Given the description of an element on the screen output the (x, y) to click on. 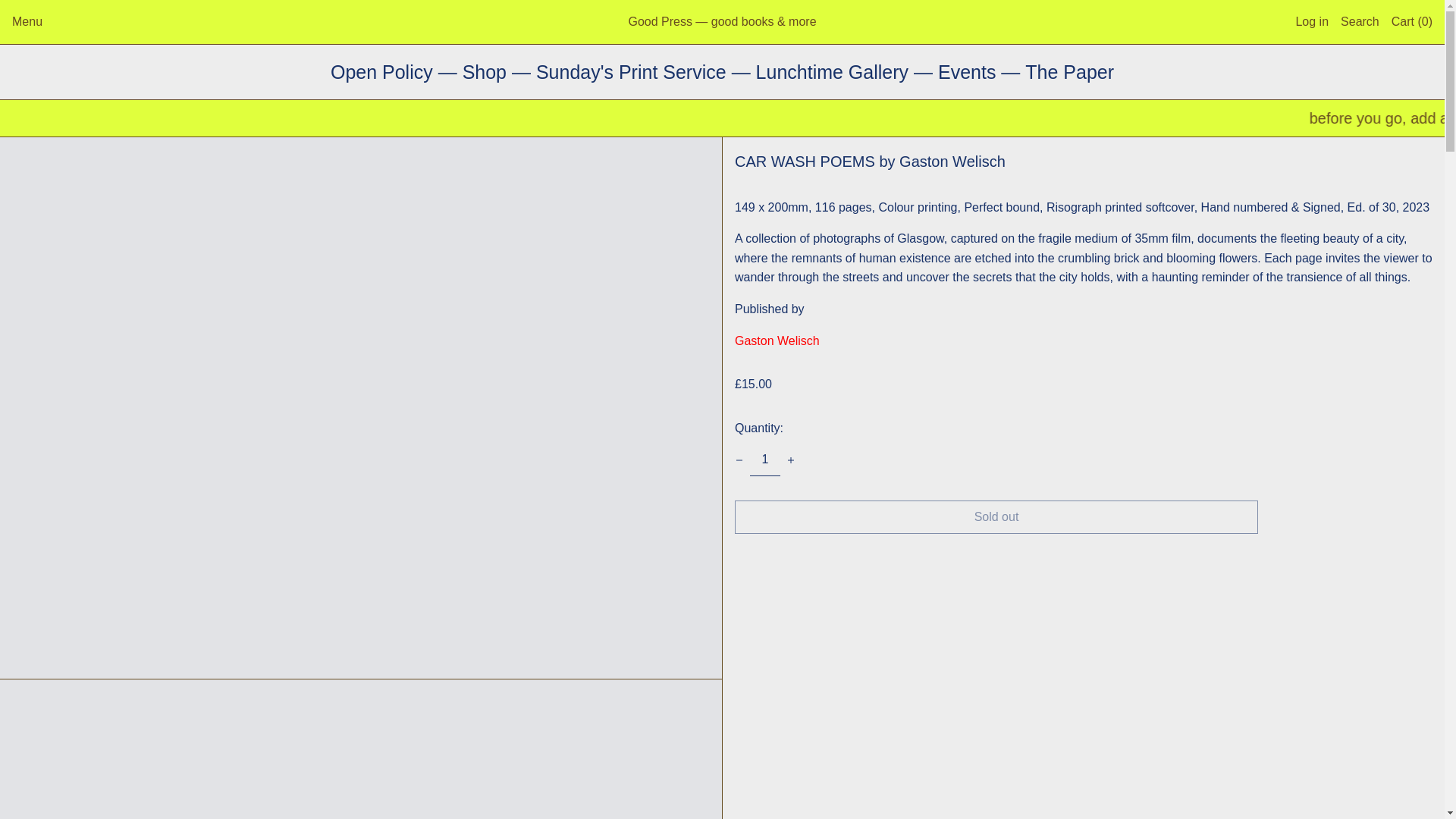
Shop (487, 71)
Menu (26, 21)
The Paper (1069, 71)
Events (969, 71)
Search (1359, 21)
Gaston Welisch (777, 340)
Lunchtime Gallery (834, 71)
Log in (1311, 21)
Open Policy (384, 71)
1 (764, 459)
